Given the description of an element on the screen output the (x, y) to click on. 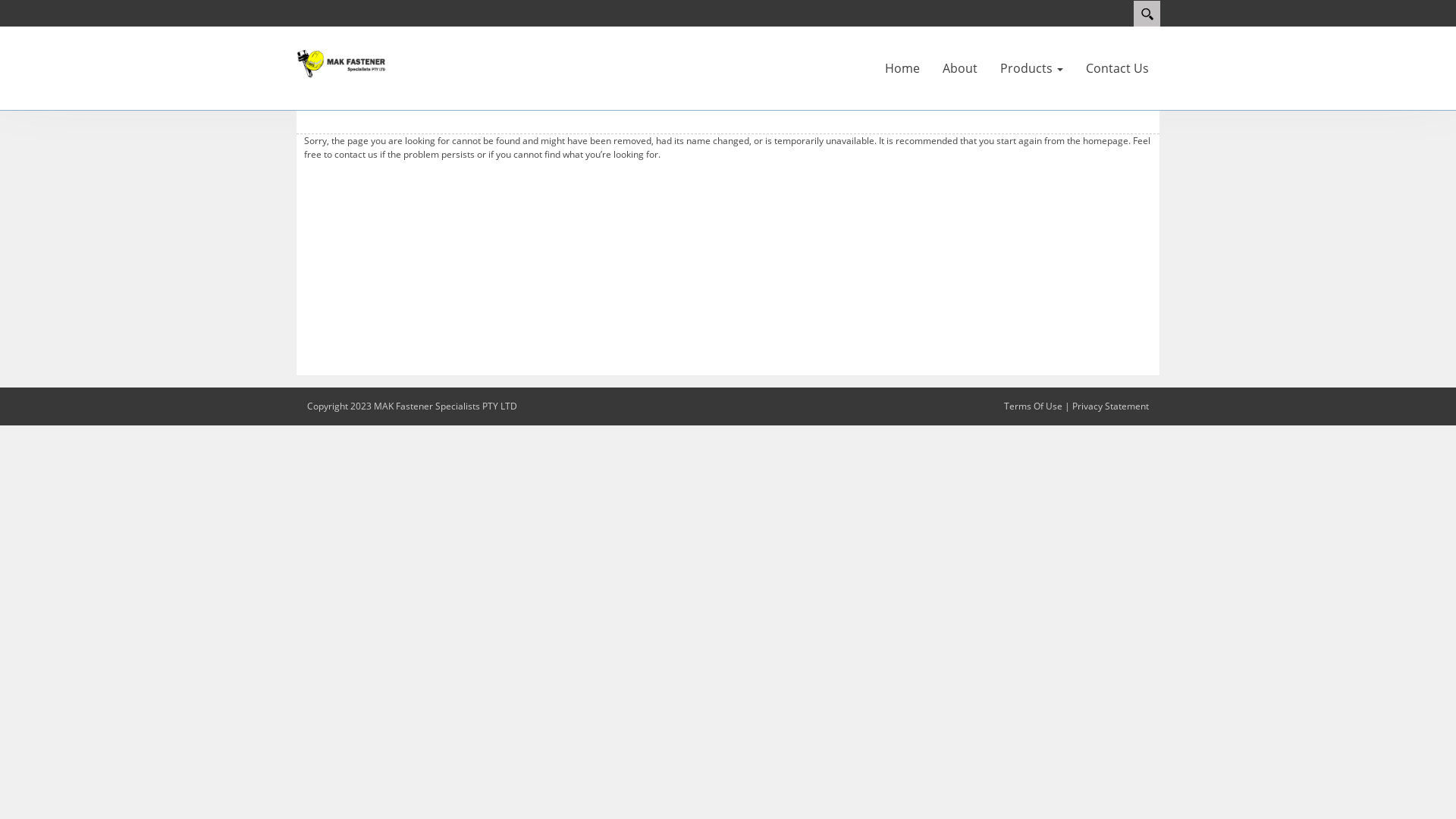
Terms Of Use Element type: text (1033, 405)
MAK Fastener Specialists PTY LTD Element type: hover (340, 62)
Contact Us Element type: text (1117, 68)
About Element type: text (959, 68)
Search Element type: text (1146, 13)
Privacy Statement Element type: text (1110, 405)
Home Element type: text (902, 68)
Products Element type: text (1031, 68)
